Given the description of an element on the screen output the (x, y) to click on. 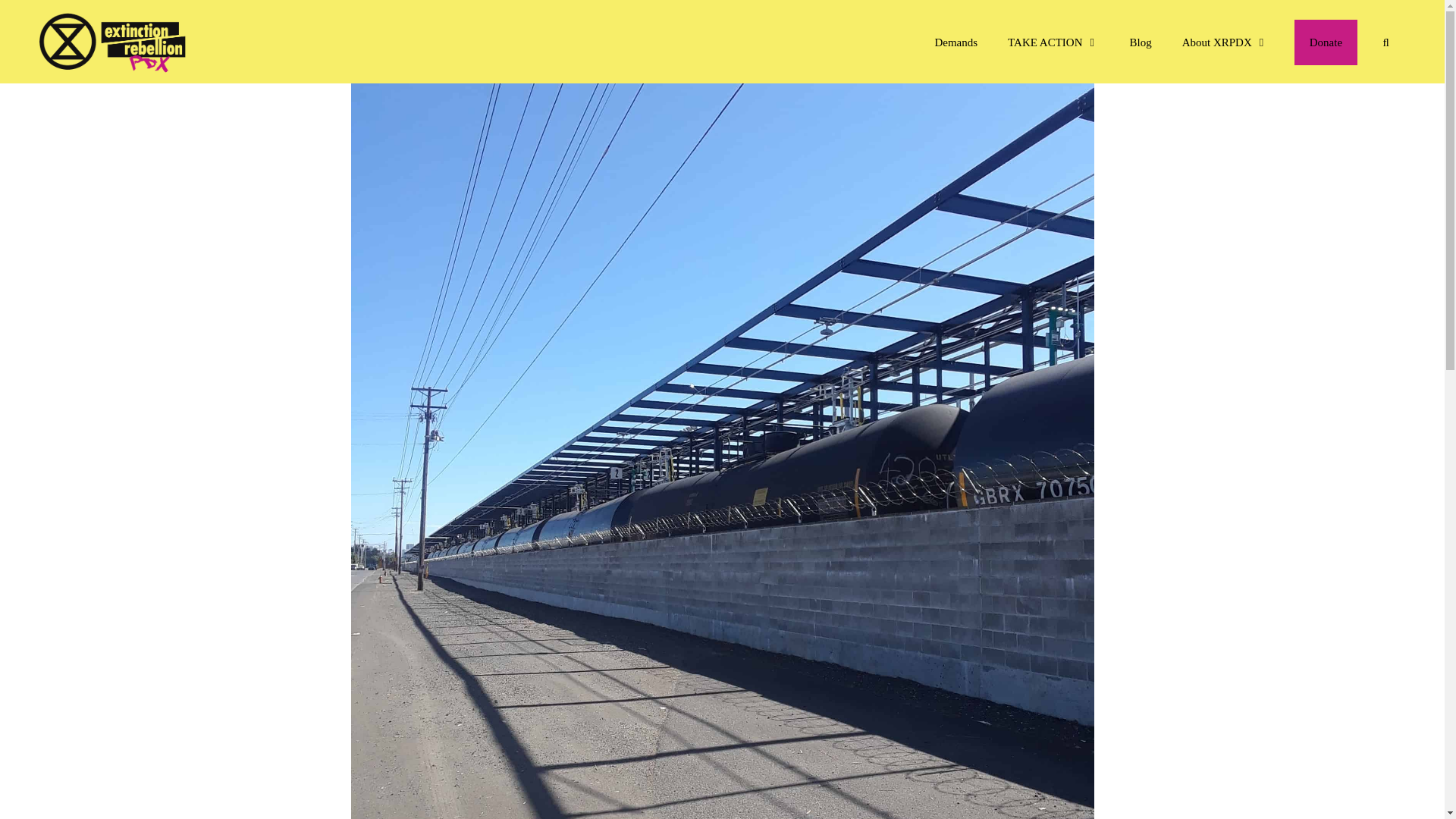
Donate (1325, 42)
Blog (1139, 42)
Demands (955, 42)
TAKE ACTION (1052, 42)
About XRPDX (1225, 42)
